Given the description of an element on the screen output the (x, y) to click on. 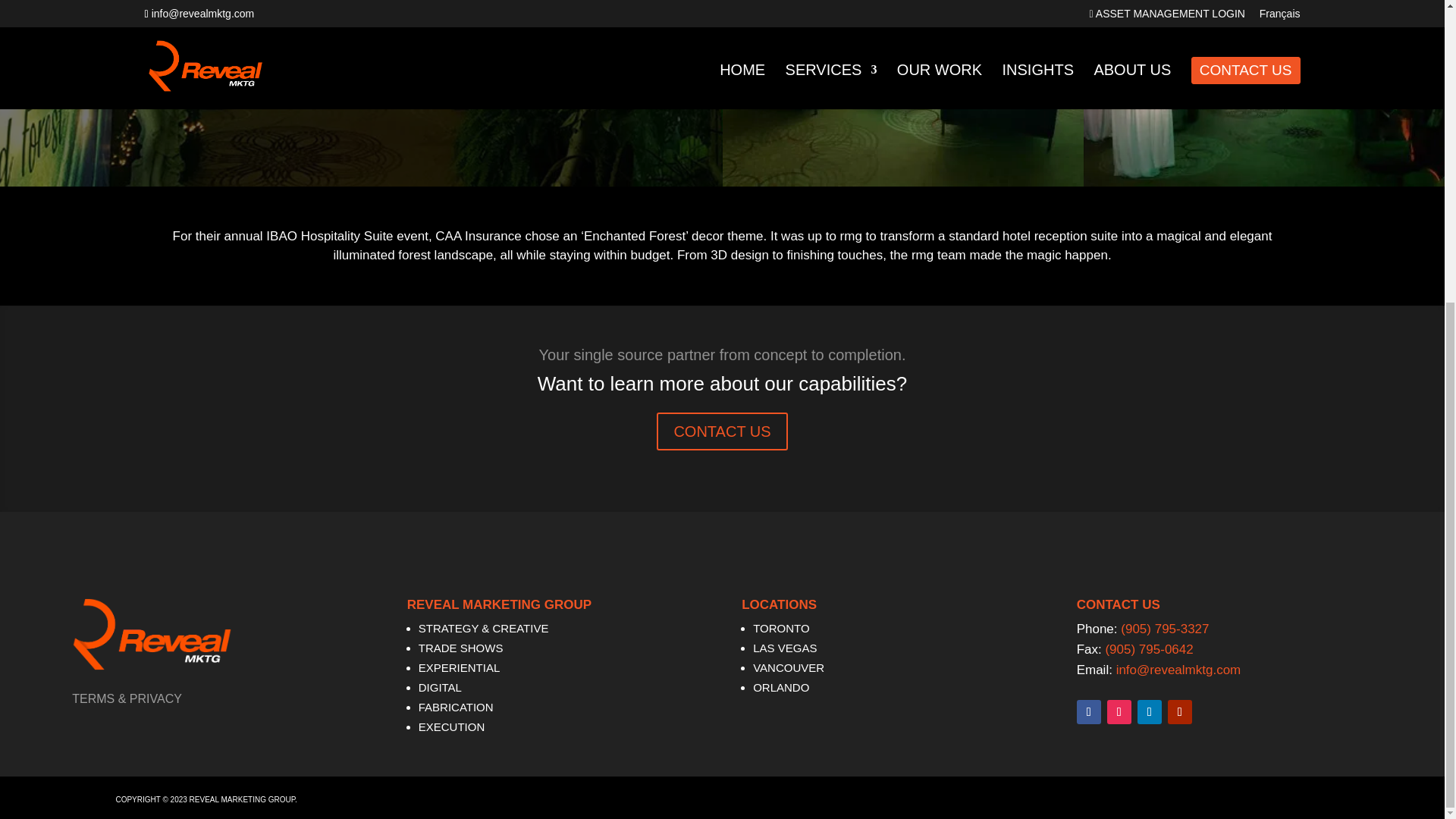
Follow on LinkedIn (1149, 711)
Web Design Toronto (1042, 794)
Follow on Instagram (1118, 711)
Trade Shows (461, 647)
TRADE SHOWS (461, 647)
EXPERIENTIAL (459, 667)
CONTACT US (721, 431)
Follow on Youtube (1179, 711)
Follow on Facebook (1088, 711)
